Given the description of an element on the screen output the (x, y) to click on. 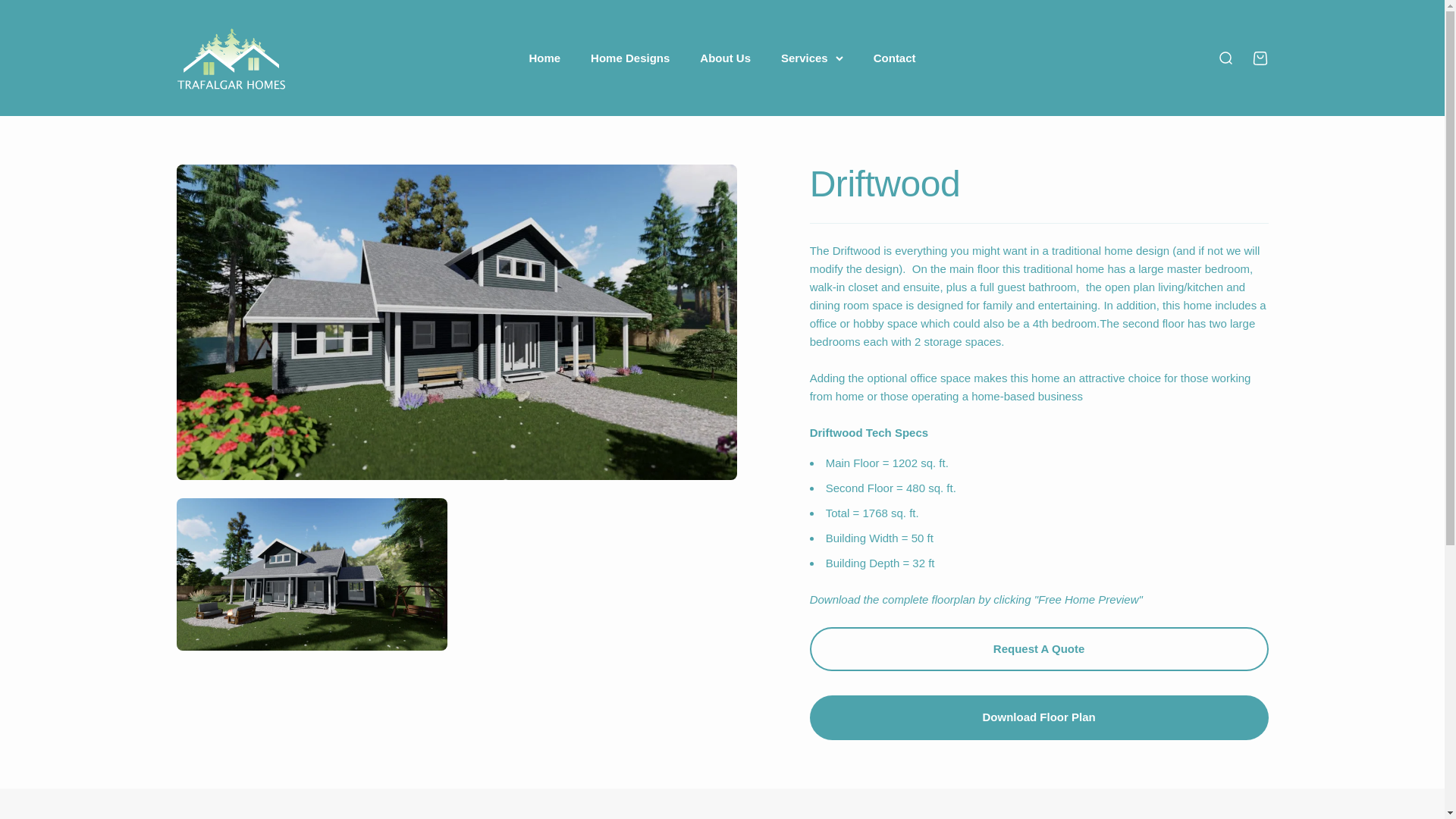
Trafalgar Homes (230, 57)
Contact (894, 57)
Home (1259, 57)
Home Designs (544, 57)
About Us (630, 57)
Open search (725, 57)
Download Floor Plan (1224, 57)
Request A Quote (1038, 717)
